Given the description of an element on the screen output the (x, y) to click on. 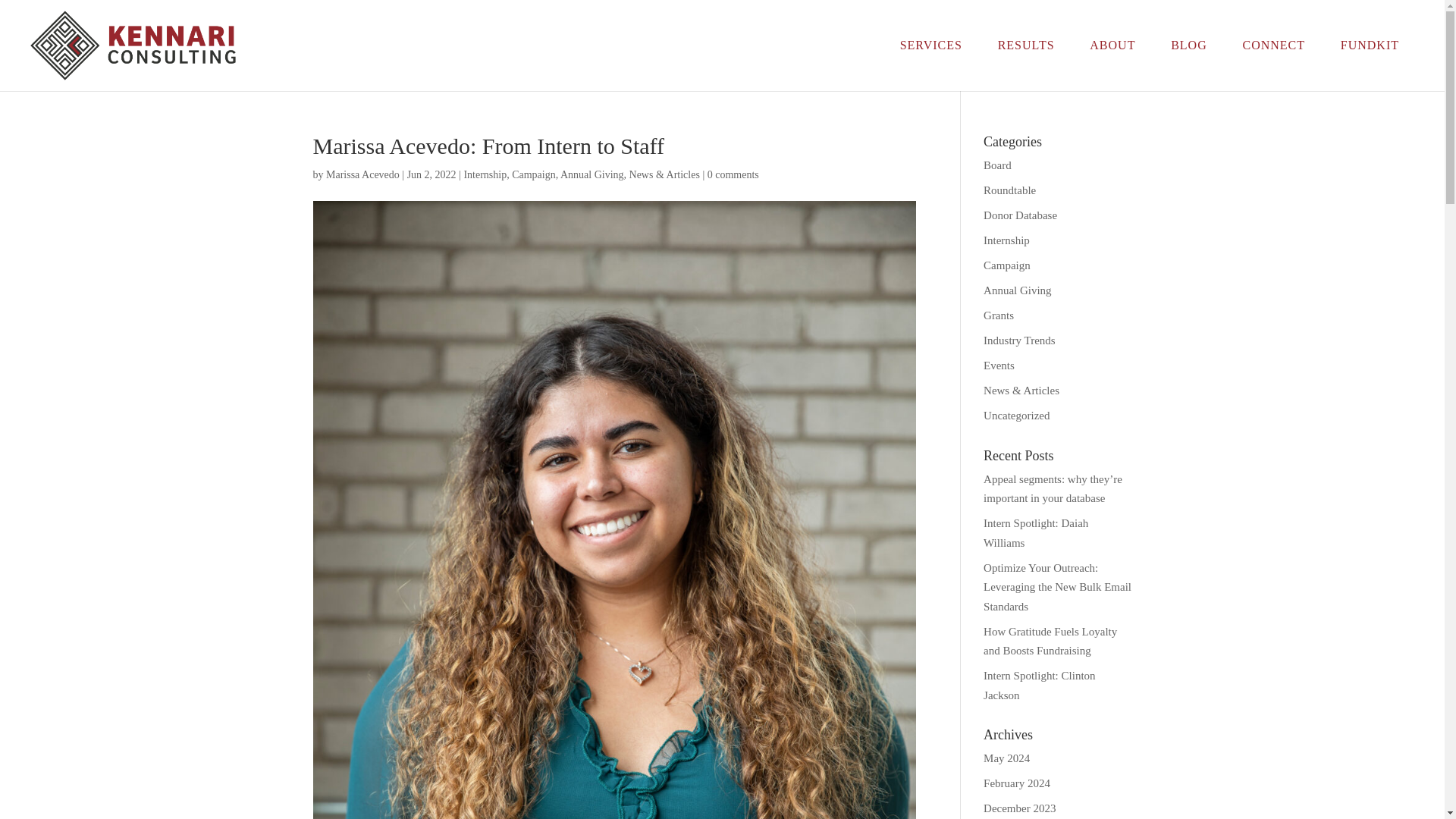
SERVICES (930, 45)
RESULTS (1026, 45)
FUNDKIT (1369, 45)
Posts by Marissa Acevedo (362, 174)
CONNECT (1273, 45)
